Given the description of an element on the screen output the (x, y) to click on. 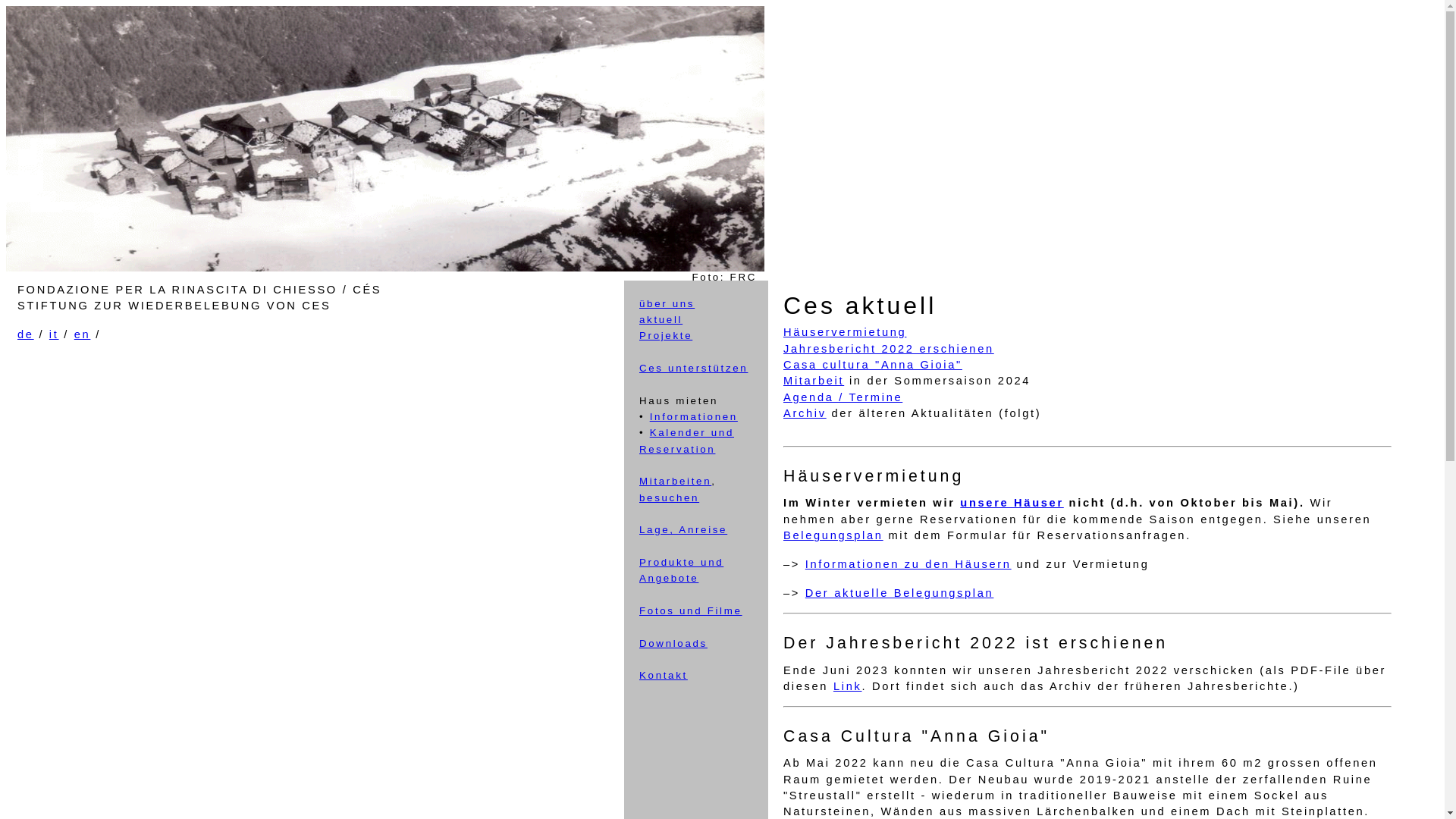
Agenda / Termine Element type: text (842, 397)
Informationen Element type: text (693, 416)
Mitarbeit Element type: text (813, 380)
Archiv Element type: text (804, 413)
Casa cultura "Anna Gioia" Element type: text (872, 364)
Belegungsplan Element type: text (833, 535)
Lage, Anreise Element type: text (683, 529)
Der aktuelle Belegungsplan Element type: text (899, 592)
Produkte und Angebote Element type: text (681, 569)
aktuell Element type: text (660, 319)
de Element type: text (25, 334)
it Element type: text (54, 334)
Projekte Element type: text (665, 335)
Kontakt Element type: text (663, 674)
Link Element type: text (847, 686)
Downloads Element type: text (673, 643)
Mitarbeiten Element type: text (675, 480)
en Element type: text (82, 334)
besuchen Element type: text (669, 497)
Fotos und Filme Element type: text (690, 610)
Kalender und
Reservation Element type: text (686, 440)
Jahresbericht 2022 erschienen Element type: text (888, 348)
